Given the description of an element on the screen output the (x, y) to click on. 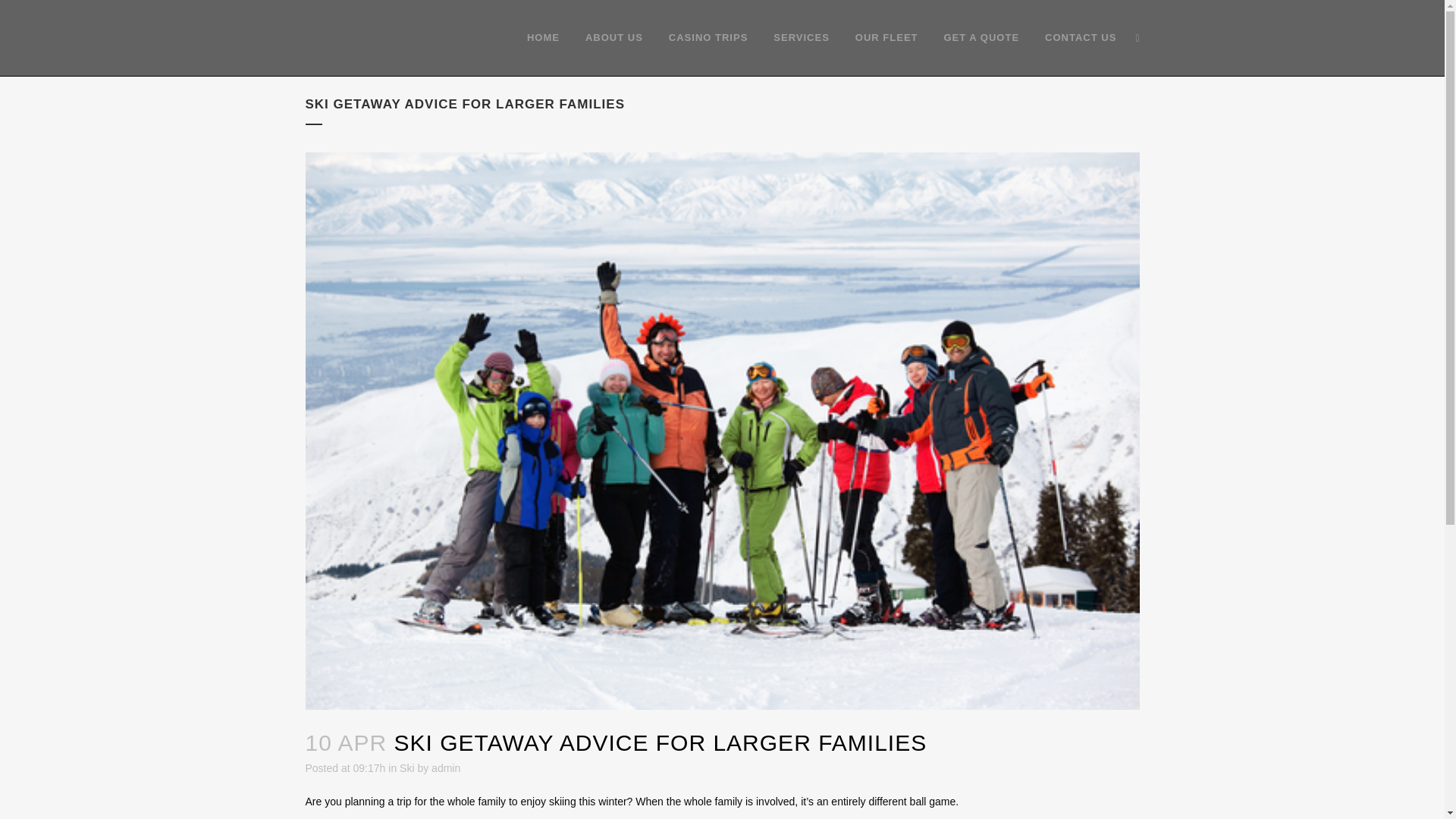
OUR FLEET (887, 38)
CONTACT US (1080, 38)
ABOUT US (614, 38)
Ski (405, 767)
CASINO TRIPS (708, 38)
SERVICES (801, 38)
GET A QUOTE (981, 38)
